Given the description of an element on the screen output the (x, y) to click on. 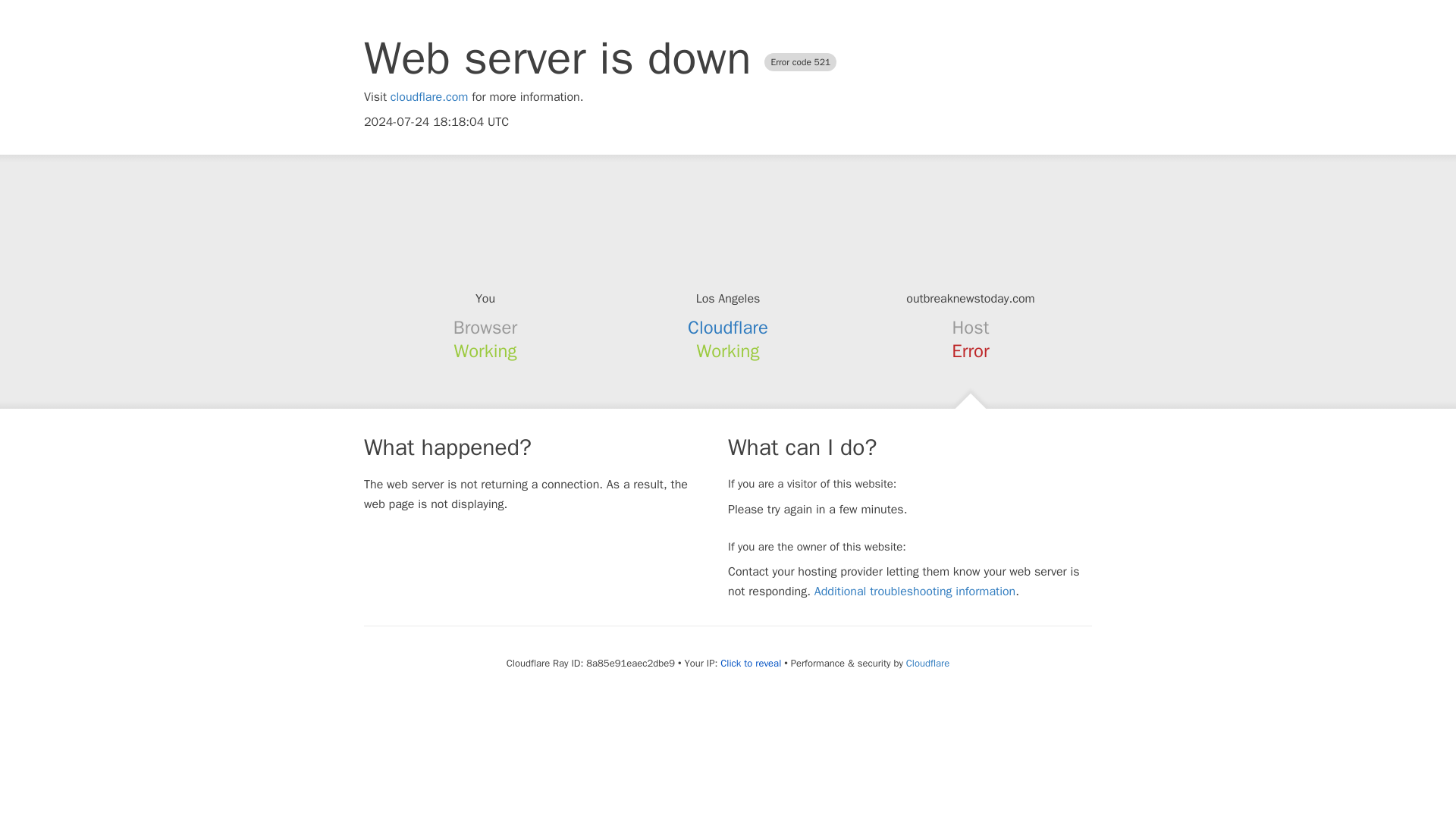
Cloudflare (927, 662)
cloudflare.com (429, 96)
Cloudflare (727, 327)
Additional troubleshooting information (913, 590)
Click to reveal (750, 663)
